Given the description of an element on the screen output the (x, y) to click on. 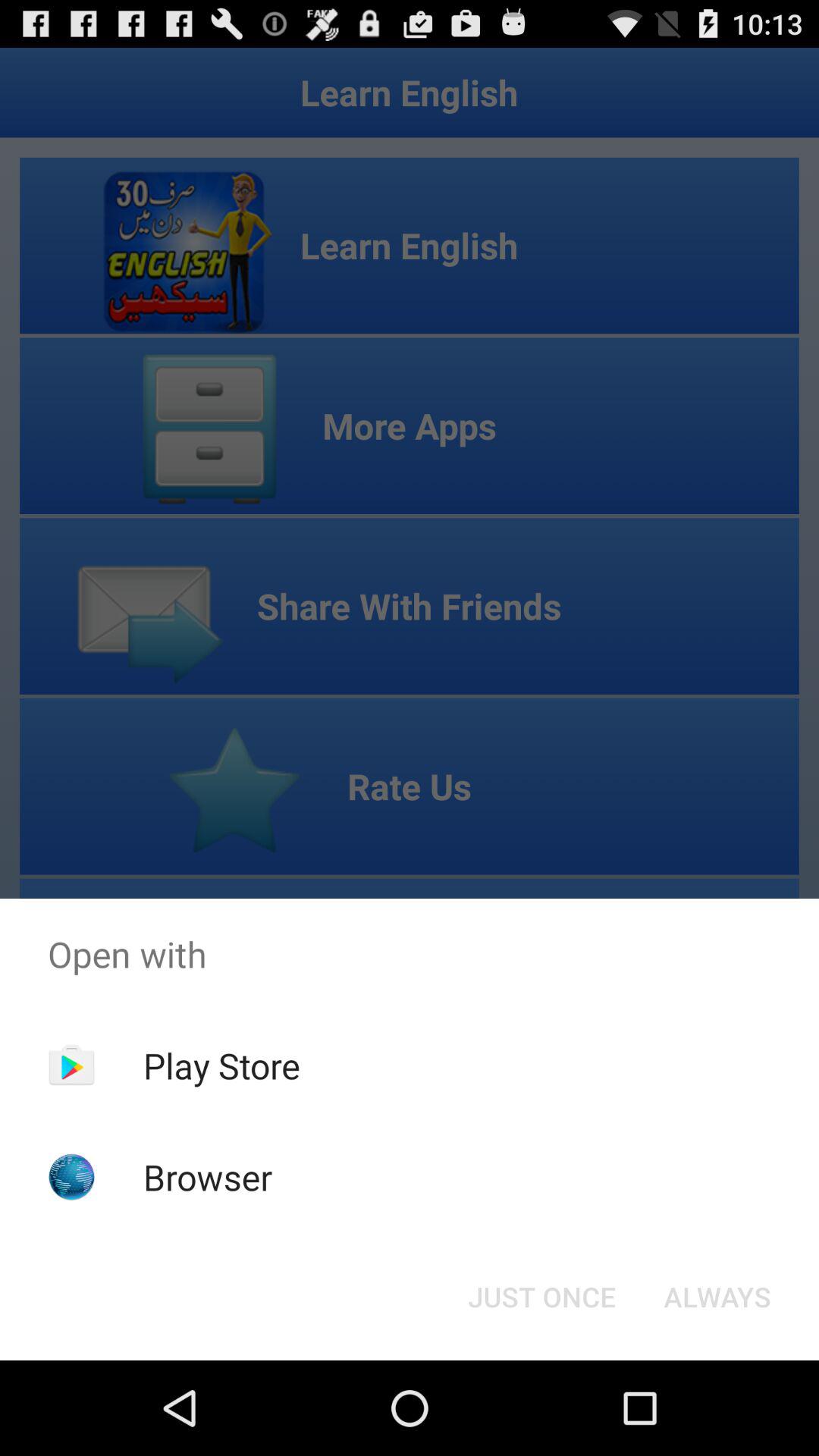
open always icon (717, 1296)
